Given the description of an element on the screen output the (x, y) to click on. 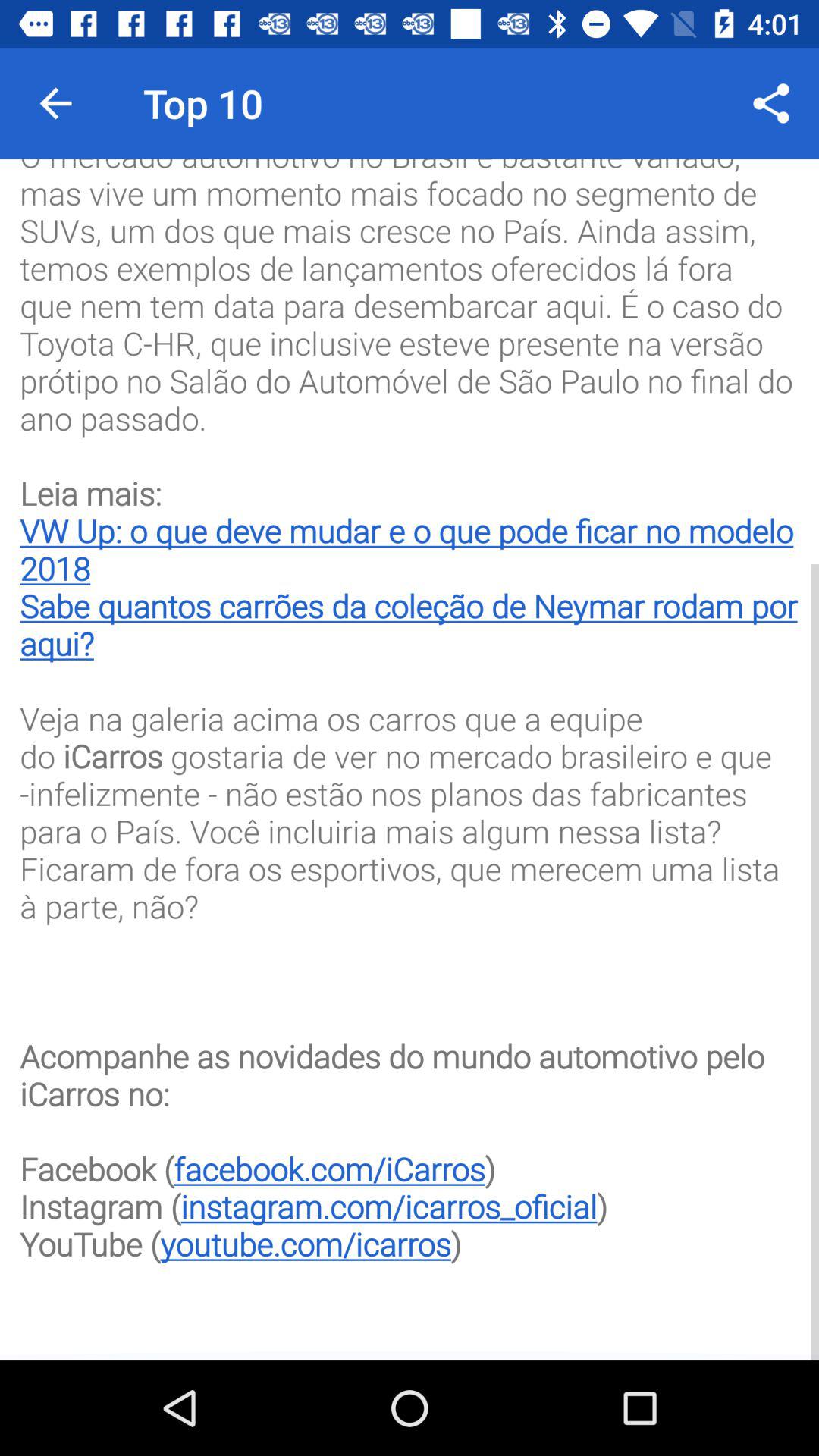
turn off item to the right of the top 10 (771, 103)
